Given the description of an element on the screen output the (x, y) to click on. 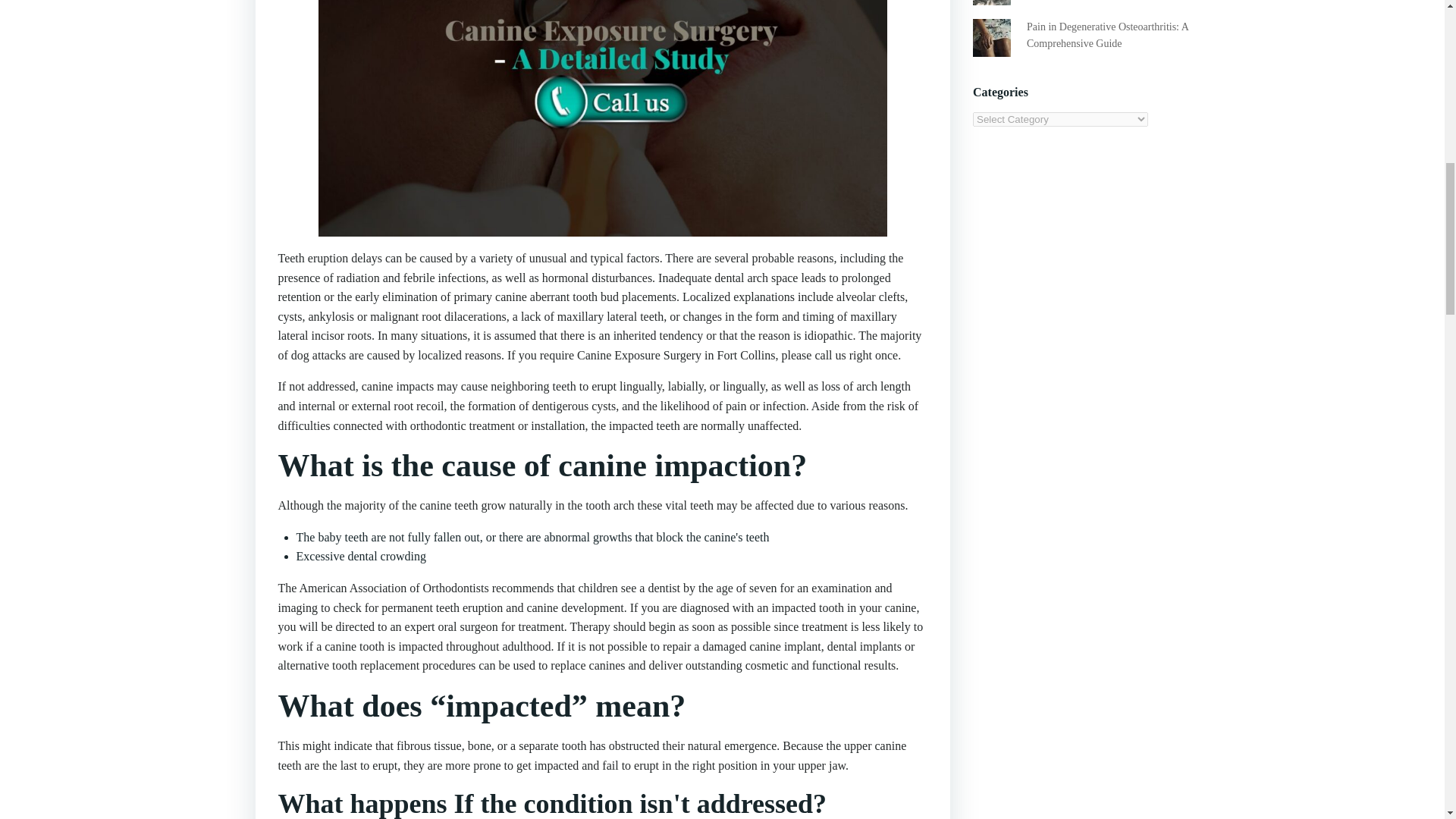
Pain in Degenerative Osteoarthritis: A Comprehensive Guide (1107, 35)
